Given the description of an element on the screen output the (x, y) to click on. 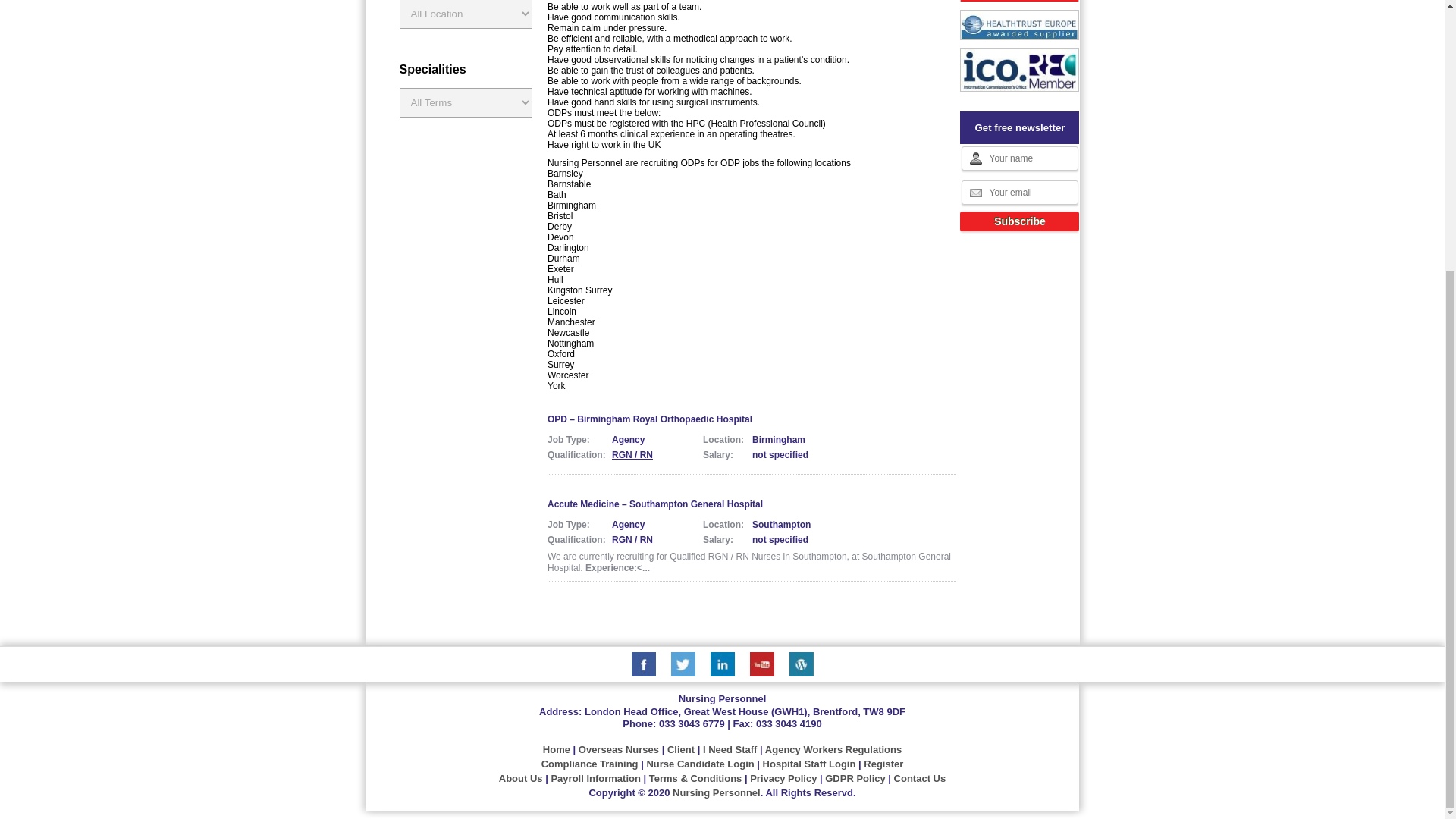
ISO 9001 Certification for Medical Professional Personnel (1018, 69)
Subscribe (1018, 220)
ISO 9001 Certification for Medical Professional Personnel (1018, 24)
Subscribe (1018, 220)
ISO 9001 Certification for Medical Professional Personnel (1018, 1)
